Given the description of an element on the screen output the (x, y) to click on. 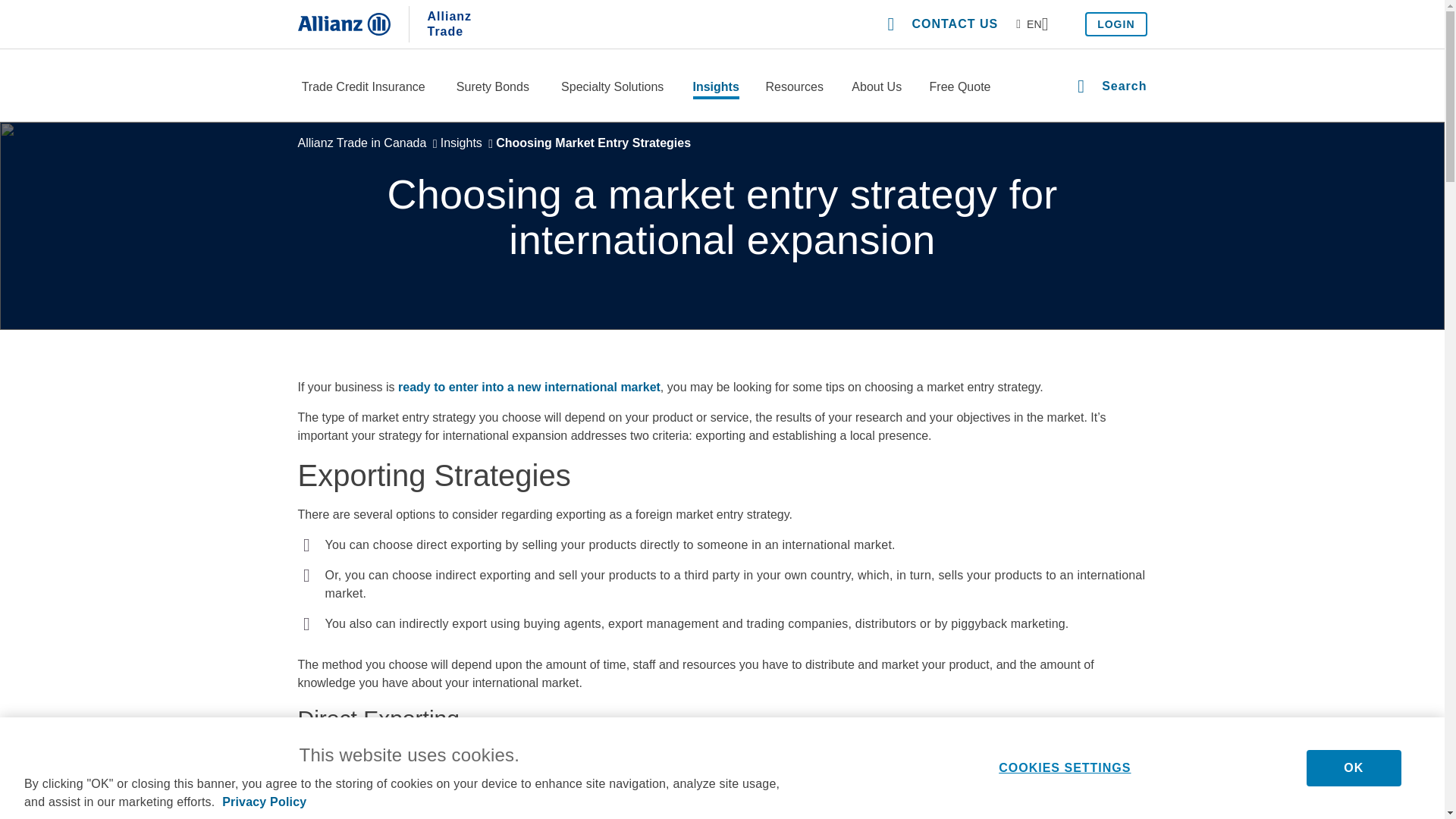
Insights (716, 88)
LOGIN (1115, 24)
EN (1032, 24)
CONTACT US (941, 24)
Specialty Solutions (612, 88)
Resources (793, 88)
Surety Bonds (492, 88)
Trade Credit Insurance (362, 88)
Free Quote (959, 88)
About Us (877, 88)
